Given the description of an element on the screen output the (x, y) to click on. 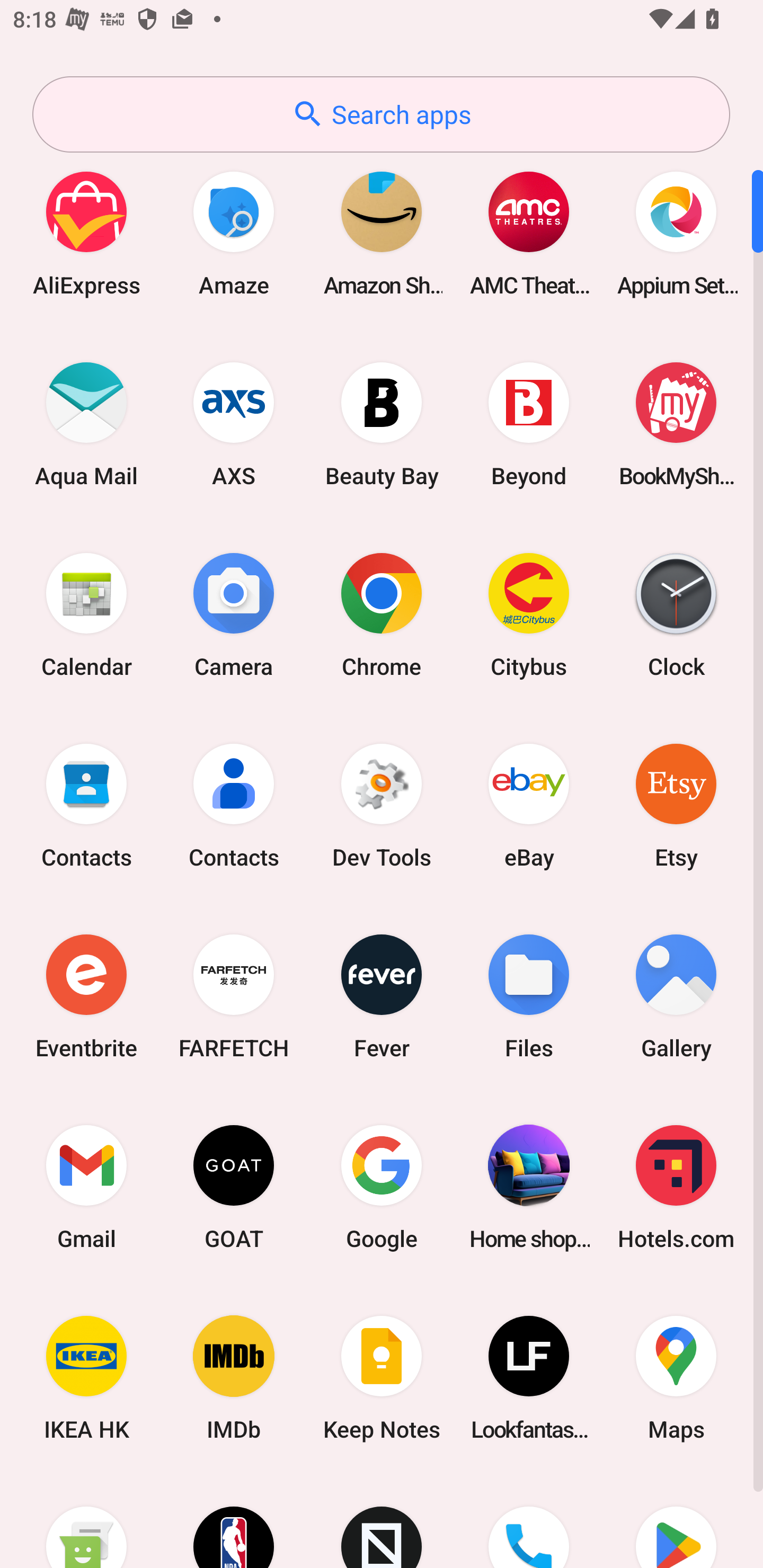
  Search apps (381, 114)
AliExpress (86, 233)
Amaze (233, 233)
Amazon Shopping (381, 233)
AMC Theatres (528, 233)
Appium Settings (676, 233)
Aqua Mail (86, 424)
AXS (233, 424)
Beauty Bay (381, 424)
Beyond (528, 424)
BookMyShow (676, 424)
Calendar (86, 614)
Camera (233, 614)
Chrome (381, 614)
Citybus (528, 614)
Clock (676, 614)
Contacts (86, 805)
Contacts (233, 805)
Dev Tools (381, 805)
eBay (528, 805)
Etsy (676, 805)
Eventbrite (86, 996)
FARFETCH (233, 996)
Fever (381, 996)
Files (528, 996)
Gallery (676, 996)
Gmail (86, 1186)
GOAT (233, 1186)
Google (381, 1186)
Home shopping (528, 1186)
Hotels.com (676, 1186)
IKEA HK (86, 1377)
IMDb (233, 1377)
Keep Notes (381, 1377)
Lookfantastic (528, 1377)
Maps (676, 1377)
Messaging (86, 1520)
NBA (233, 1520)
Novelship (381, 1520)
Phone (528, 1520)
Play Store (676, 1520)
